Given the description of an element on the screen output the (x, y) to click on. 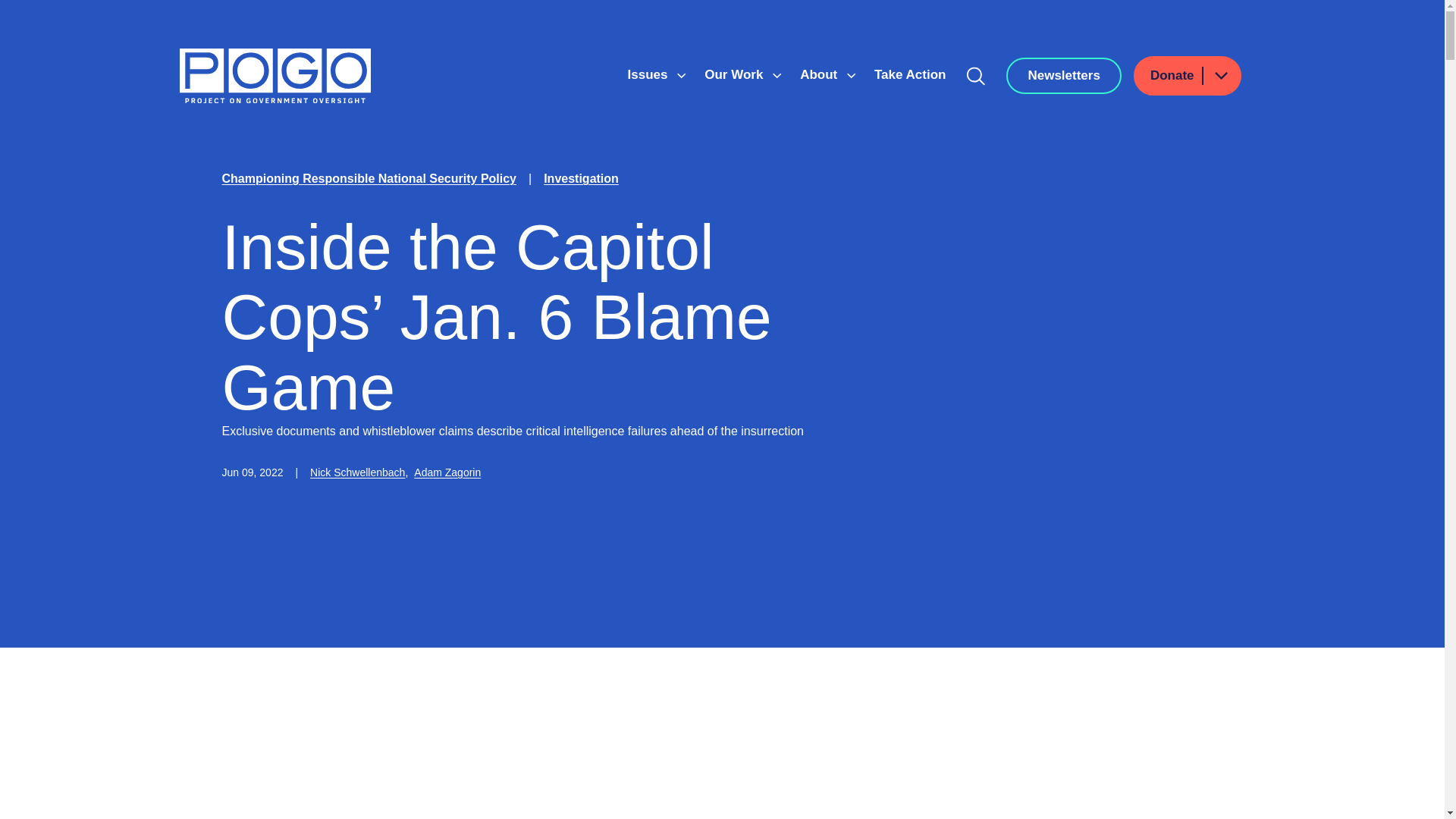
Search (976, 75)
Show submenu for Issues (681, 75)
Issues (649, 74)
Our Work (735, 74)
Show submenu for Our Work (777, 75)
Show submenu for Donate (1220, 75)
Newsletters (1063, 75)
Show submenu for About (851, 75)
Home (274, 75)
About (820, 74)
Donate (1187, 75)
Take Action (909, 74)
